Given the description of an element on the screen output the (x, y) to click on. 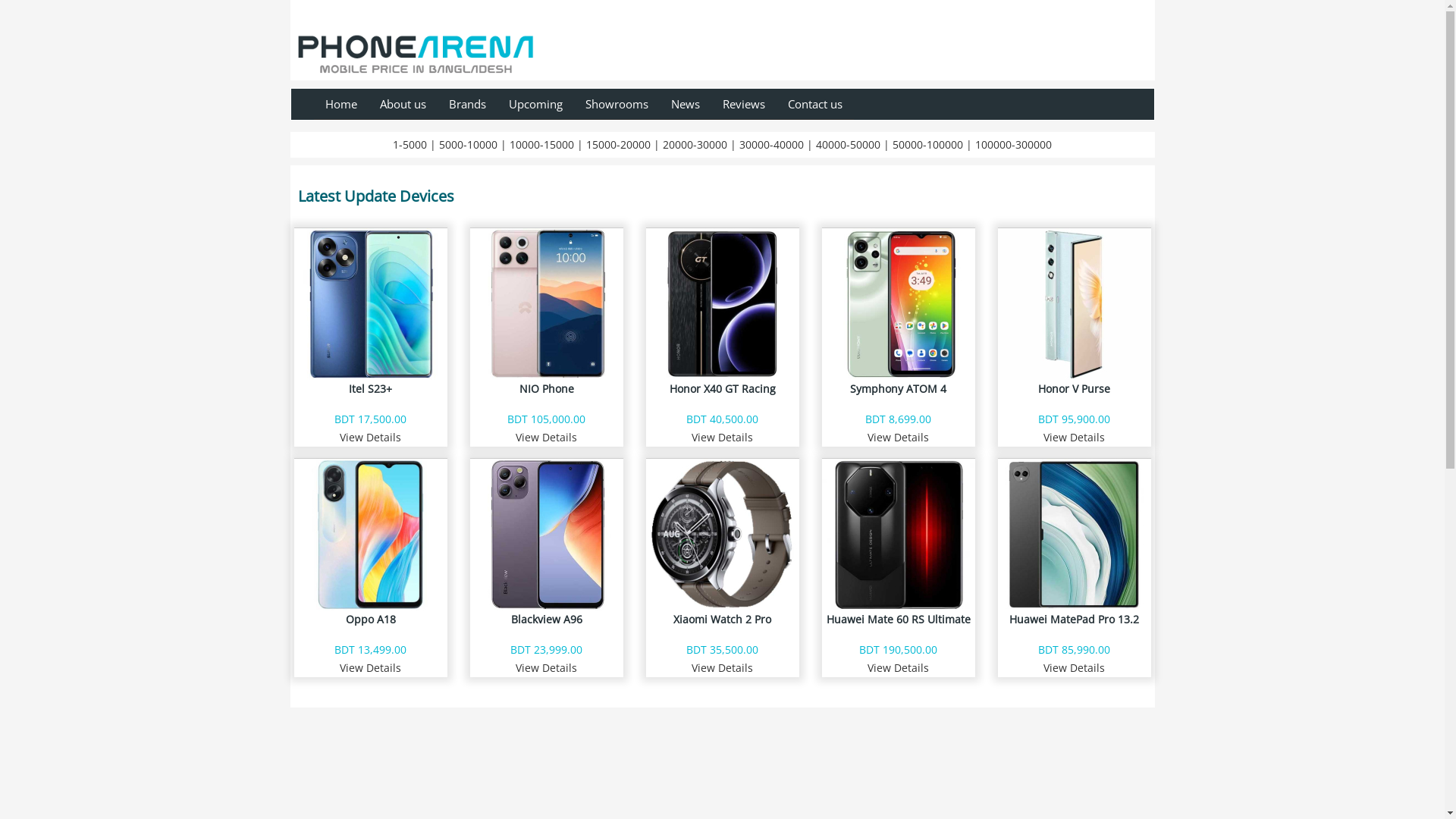
View Details Element type: text (897, 667)
1-5000 Element type: text (409, 144)
Honor V Purse Element type: text (1074, 319)
NIO Phone Element type: text (546, 319)
Phonearena Bangladesh Element type: hover (415, 47)
View Details Element type: text (546, 436)
30000-40000 Element type: text (771, 144)
10000-15000 Element type: text (541, 144)
View Details Element type: text (897, 436)
Home Element type: text (340, 103)
5000-10000 Element type: text (468, 144)
View Details Element type: text (370, 436)
Symphony ATOM 4 Element type: text (898, 319)
About us Element type: text (402, 103)
Huawei MatePad Pro 13.2 Element type: text (1074, 549)
100000-300000 Element type: text (1013, 144)
Huawei Mate 60 RS Ultimate Element type: text (898, 549)
15000-20000 Element type: text (618, 144)
View Details Element type: text (722, 436)
Honor X40 GT Racing Element type: text (722, 319)
50000-100000 Element type: text (927, 144)
News Element type: text (685, 103)
View Details Element type: text (1073, 436)
Brands Element type: text (466, 103)
Upcoming Element type: text (535, 103)
Oppo A18 Element type: text (370, 549)
View Details Element type: text (546, 667)
View Details Element type: text (1073, 667)
View Details Element type: text (722, 667)
40000-50000 Element type: text (847, 144)
Showrooms Element type: text (615, 103)
View Details Element type: text (370, 667)
Itel S23+ Element type: text (370, 319)
Contact us Element type: text (814, 103)
Blackview A96 Element type: text (546, 549)
20000-30000 Element type: text (694, 144)
Reviews Element type: text (743, 103)
Xiaomi Watch 2 Pro Element type: text (722, 549)
